Given the description of an element on the screen output the (x, y) to click on. 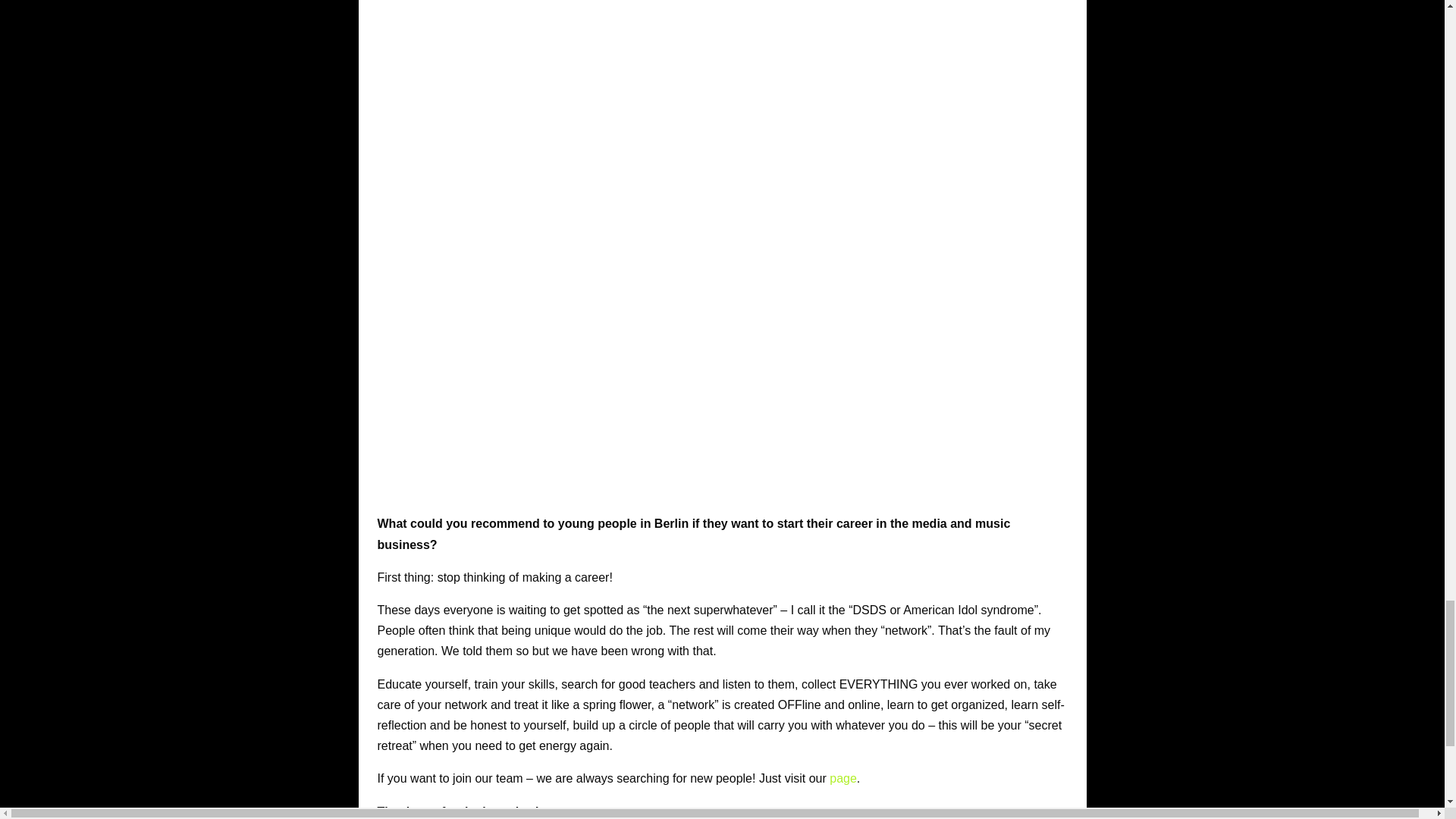
page (843, 778)
